Given the description of an element on the screen output the (x, y) to click on. 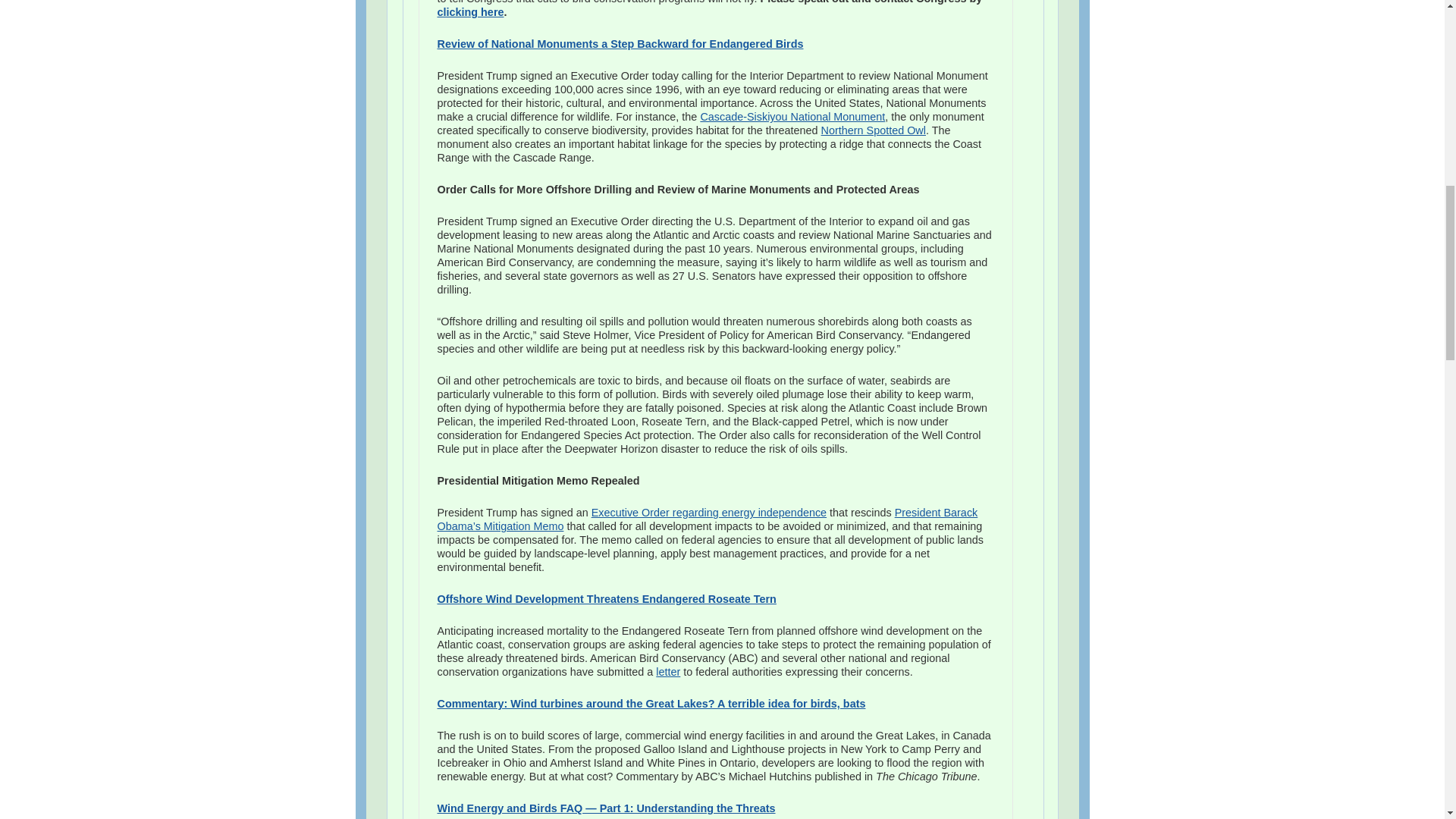
Executive Order regarding energy independence (709, 512)
Northern Spotted Owl (873, 130)
Offshore Wind Development Threatens Endangered Roseate Tern (606, 598)
clicking here (469, 11)
Cascade-Siskiyou National Monument (792, 116)
